Given the description of an element on the screen output the (x, y) to click on. 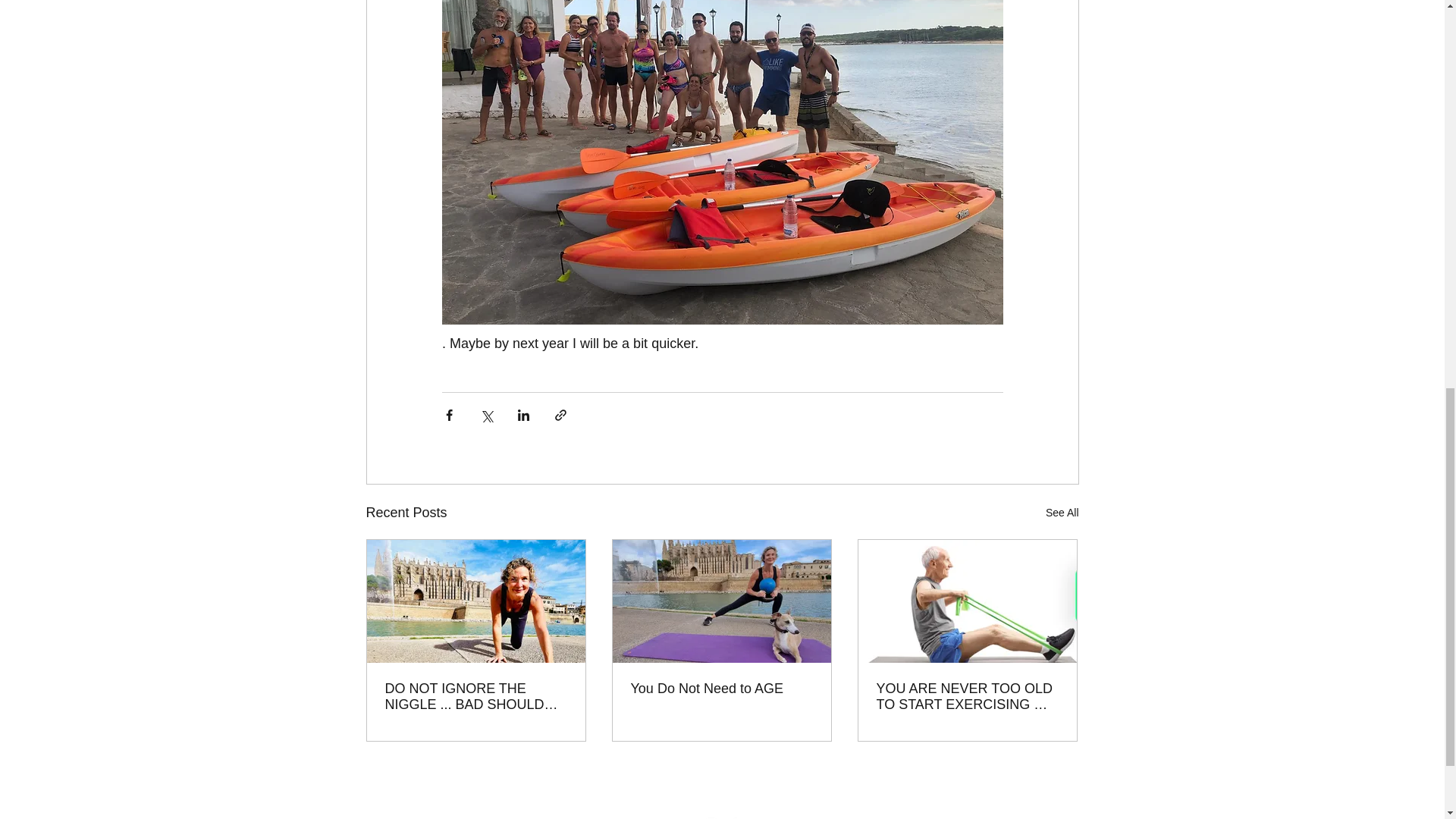
You Do Not Need to AGE (721, 688)
See All (1061, 513)
